Given the description of an element on the screen output the (x, y) to click on. 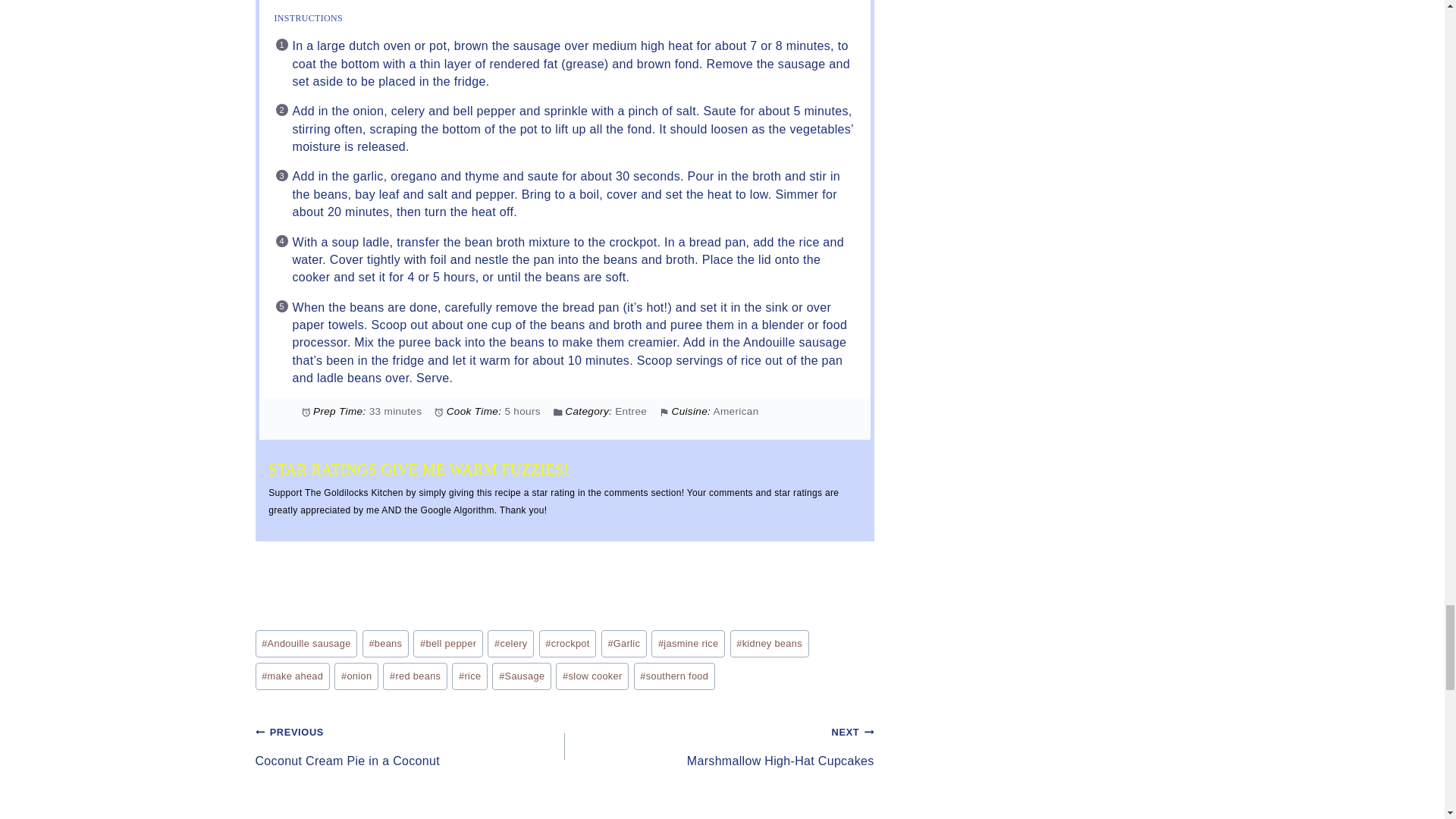
Garlic (623, 643)
jasmine rice (687, 643)
onion (356, 676)
crockpot (567, 643)
red beans (414, 676)
beans (385, 643)
kidney beans (769, 643)
bell pepper (448, 643)
make ahead (291, 676)
celery (510, 643)
Andouille sausage (305, 643)
rice (469, 676)
Sausage (521, 676)
